Given the description of an element on the screen output the (x, y) to click on. 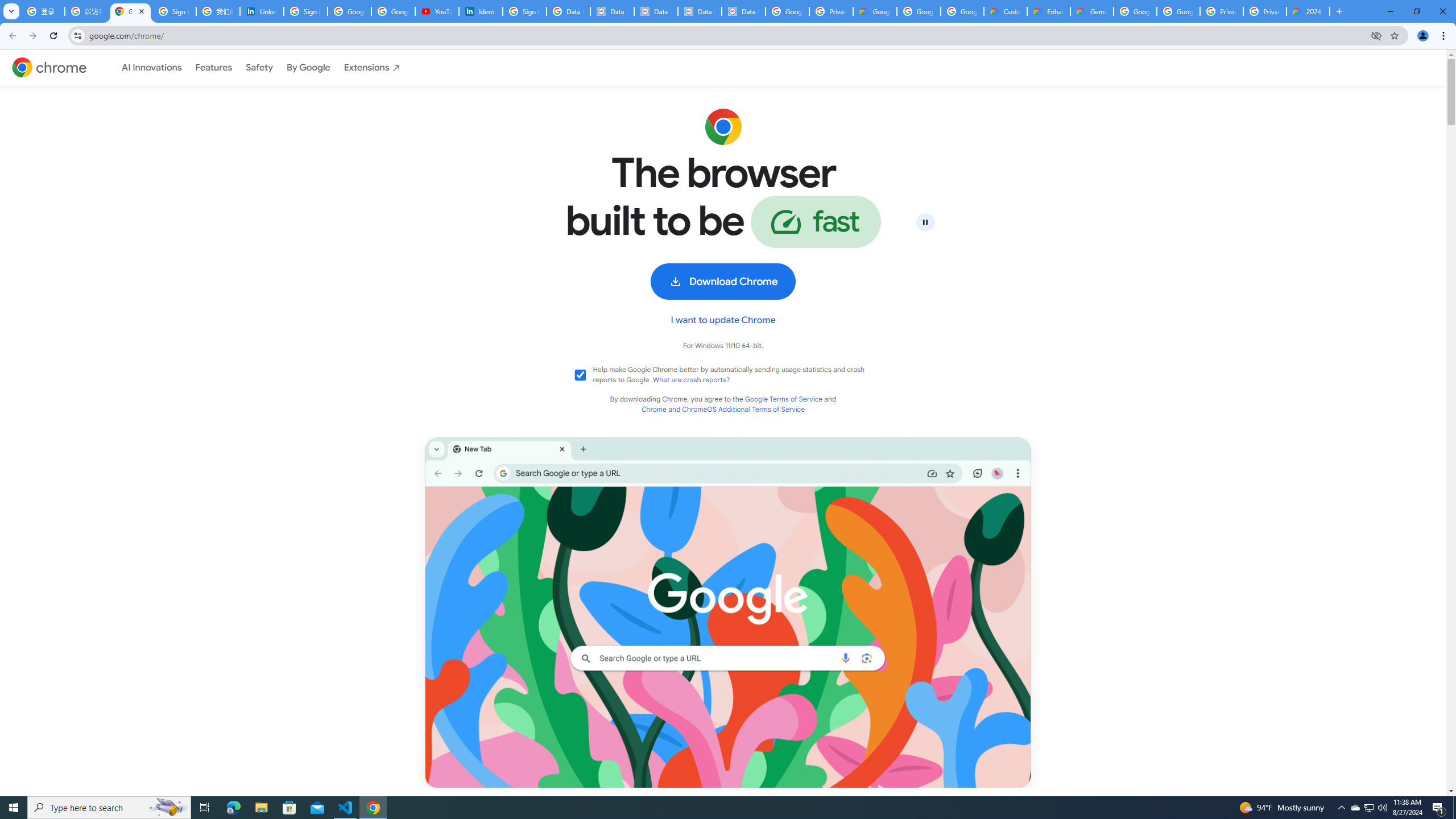
Play/Pause animation (924, 221)
Sign in - Google Accounts (524, 11)
Google Workspace - Specific Terms (962, 11)
features (212, 67)
Data Privacy Framework (612, 11)
Data Privacy Framework (699, 11)
Google Cloud Platform (1178, 11)
Google Workspace - Specific Terms (918, 11)
Customer Care | Google Cloud (1005, 11)
Sign in - Google Accounts (305, 11)
